Given the description of an element on the screen output the (x, y) to click on. 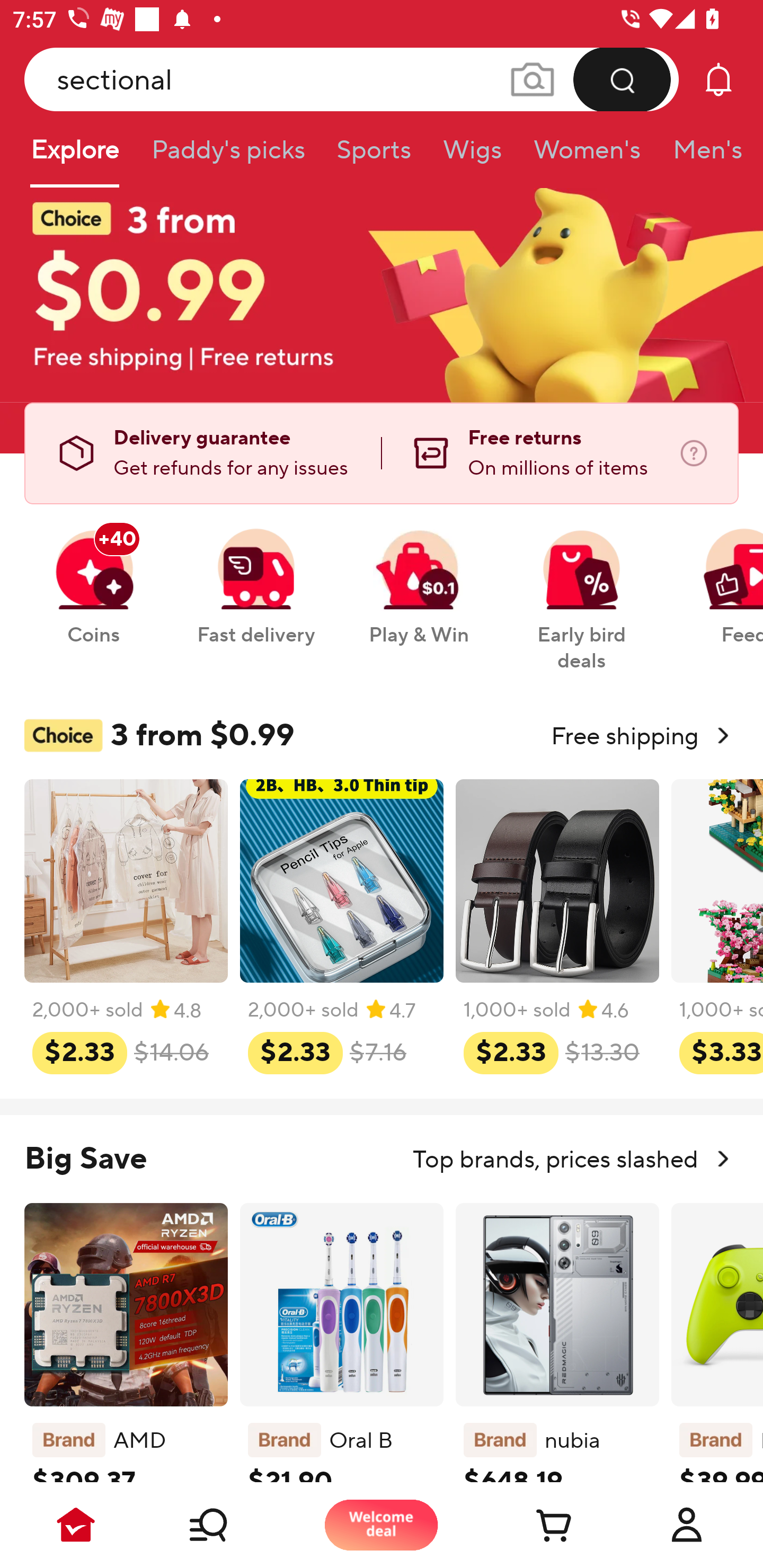
sectional (351, 79)
Paddy's picks (227, 155)
Sports (373, 155)
Wigs (472, 155)
Women's (586, 155)
Men's (701, 155)
Coinsbutton +40 Coins (93, 576)
Fast deliverybutton Fast delivery (255, 576)
Play & Winbutton Play & Win (418, 576)
Early bird dealsbutton Early bird deals (581, 589)
Feedbutton Feed (719, 576)
Shop (228, 1524)
Cart (533, 1524)
Account (686, 1524)
